Given the description of an element on the screen output the (x, y) to click on. 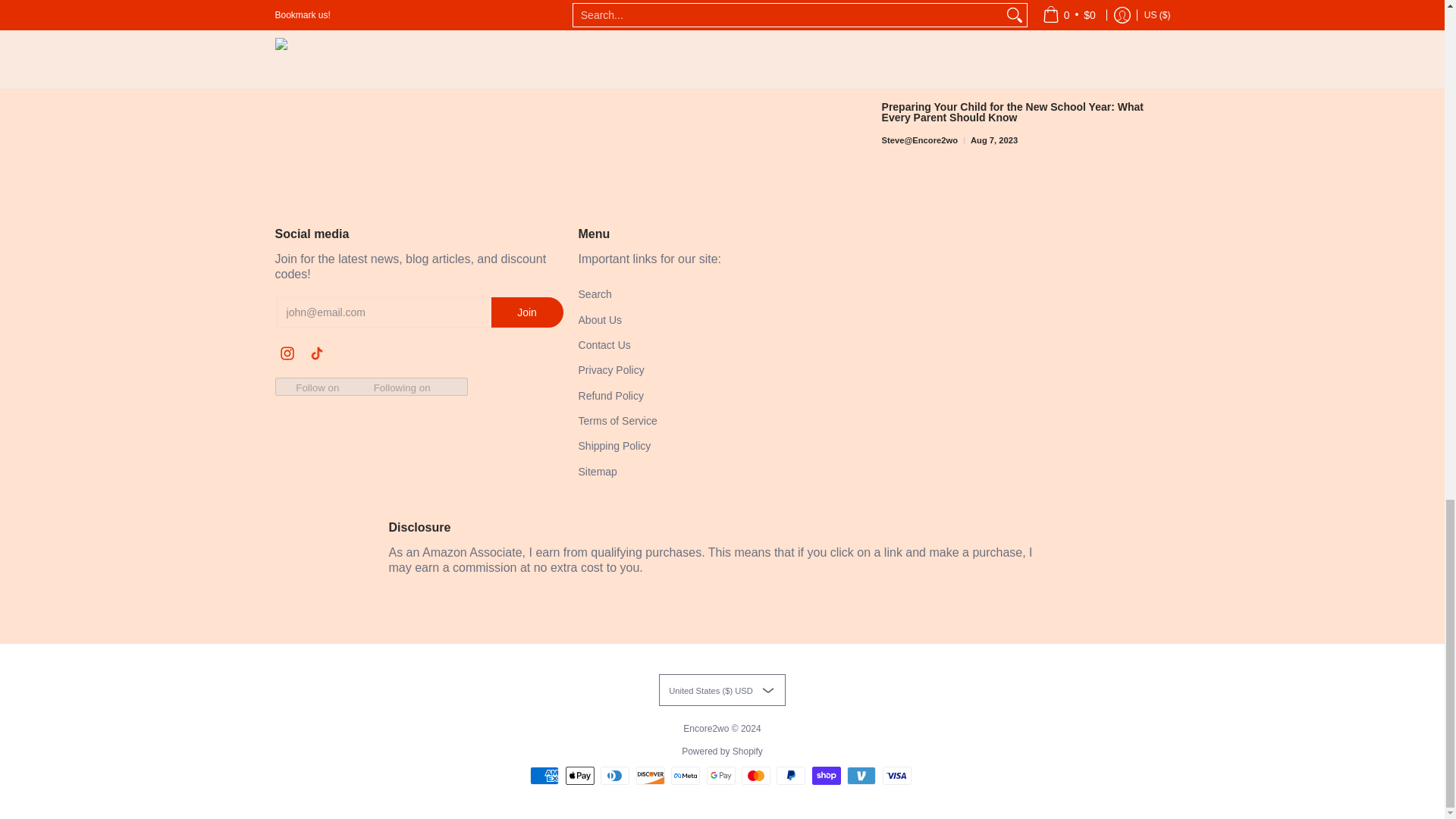
Apple Pay (580, 775)
Google Pay (720, 775)
Diners Club (613, 775)
Shop Pay (826, 775)
Mastercard (755, 775)
American Express (544, 775)
Discover (650, 775)
Meta Pay (685, 775)
PayPal (790, 775)
